Given the description of an element on the screen output the (x, y) to click on. 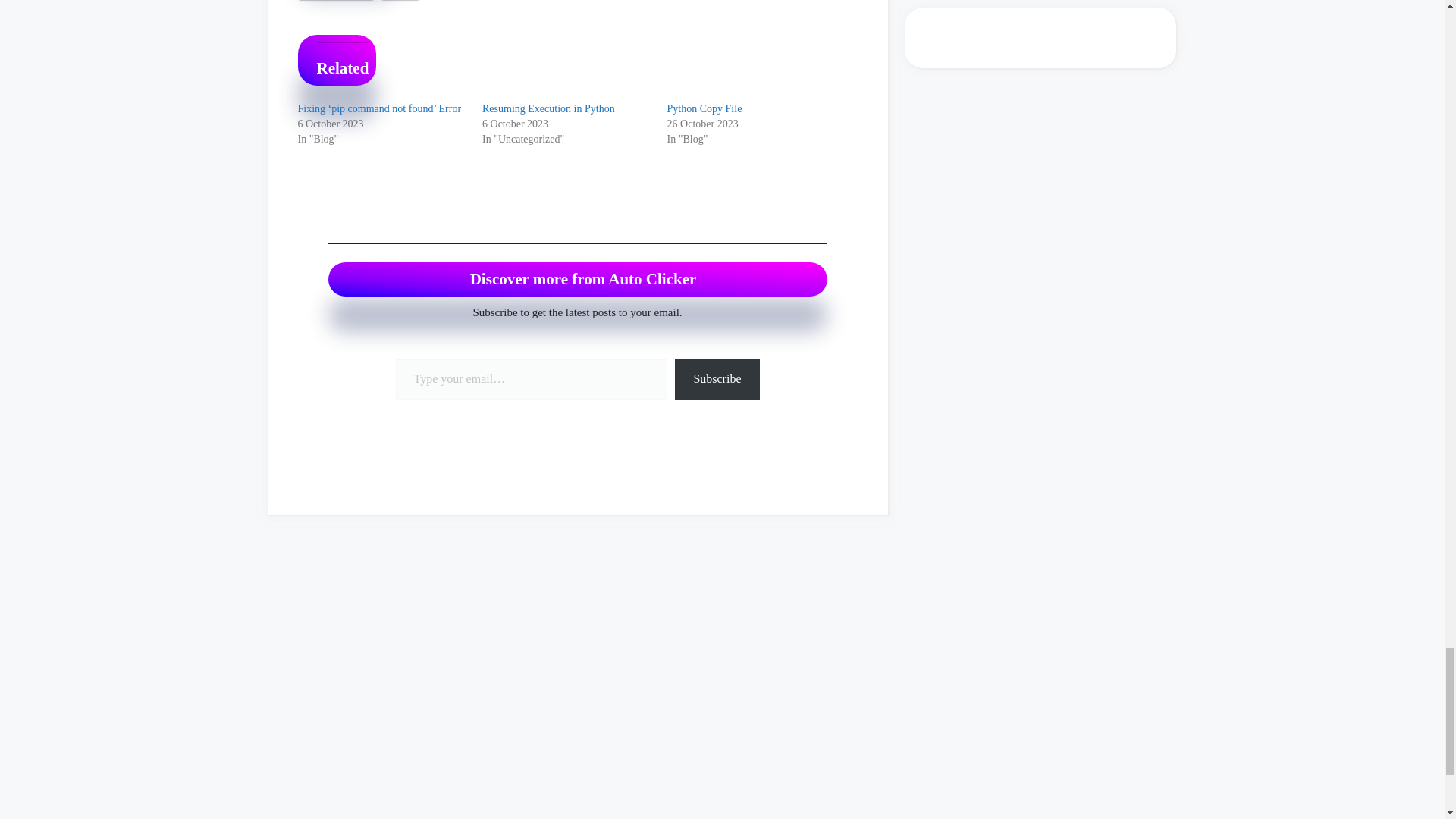
Python Copy File (704, 108)
Resuming Execution in Python (547, 108)
Resuming Execution in Python (547, 108)
Python Copy File (704, 108)
Subscribe (716, 379)
